Given the description of an element on the screen output the (x, y) to click on. 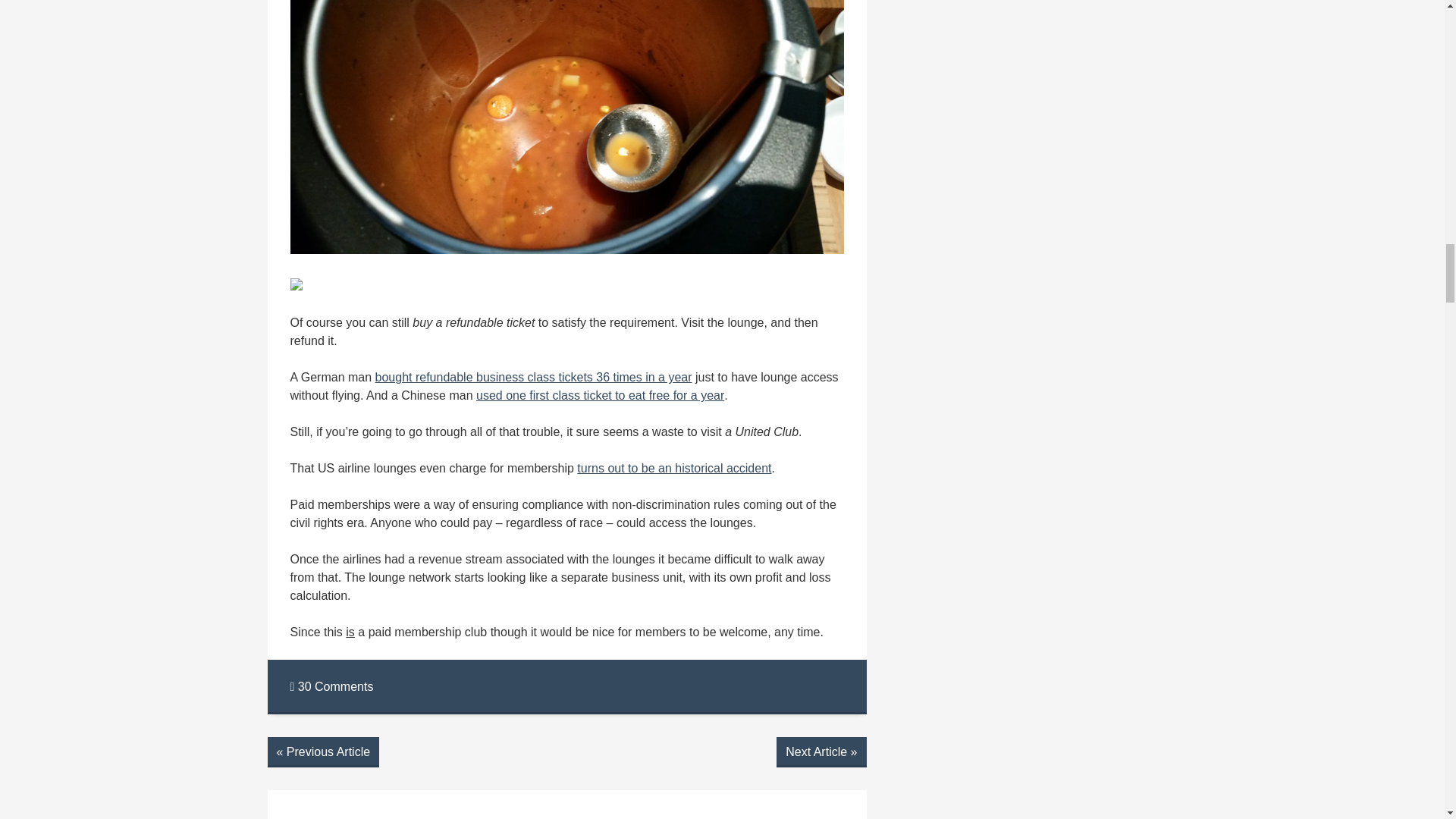
turns out to be an historical accident (673, 468)
bought refundable business class tickets 36 times in a year (534, 377)
30 Comments (330, 686)
used one first class ticket to eat free for a year (599, 395)
